Given the description of an element on the screen output the (x, y) to click on. 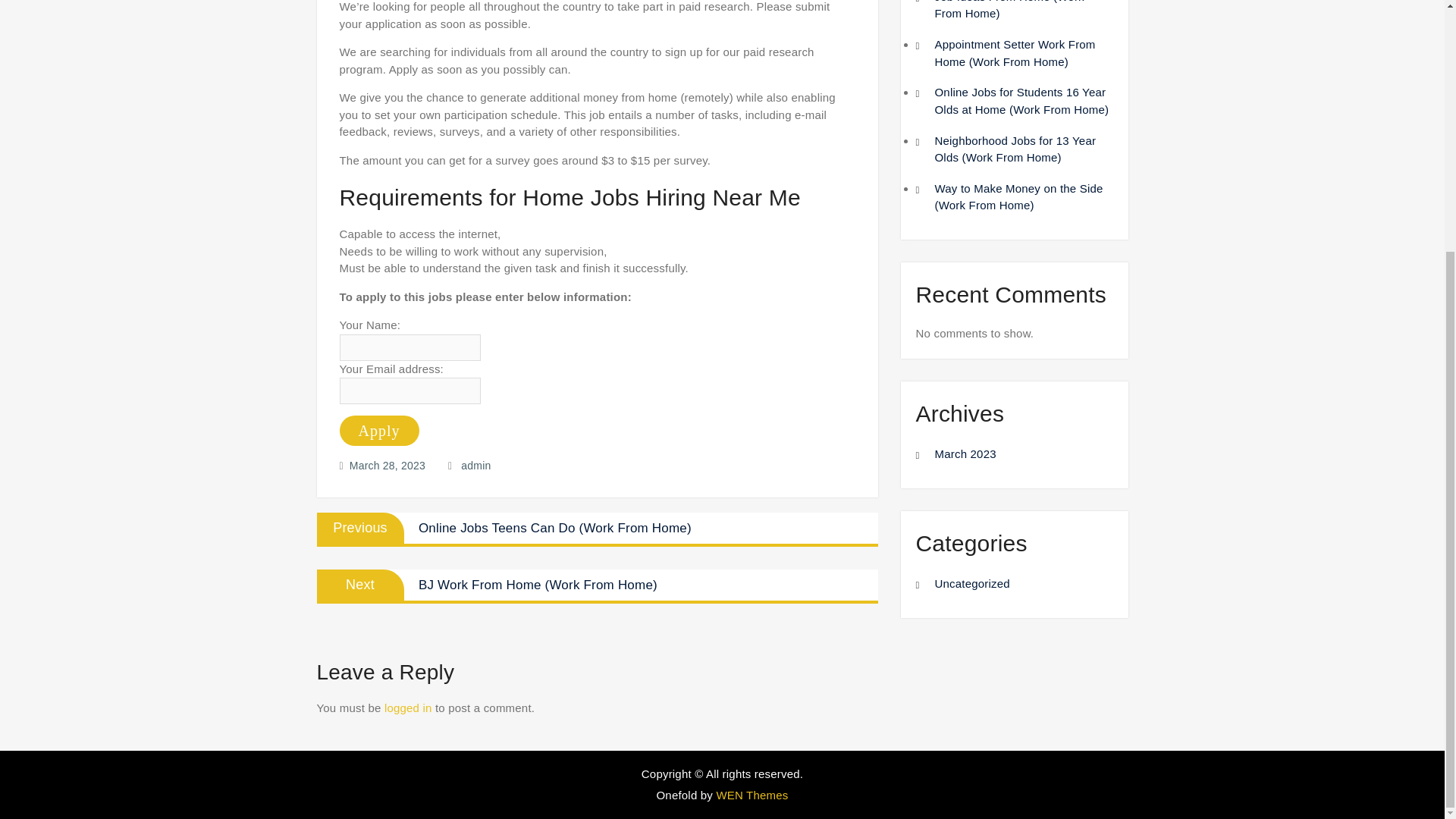
Apply (379, 430)
March 28, 2023 (387, 465)
Apply (379, 430)
Uncategorized (971, 583)
logged in (408, 707)
March 2023 (964, 453)
WEN Themes (751, 794)
admin (475, 465)
